Given the description of an element on the screen output the (x, y) to click on. 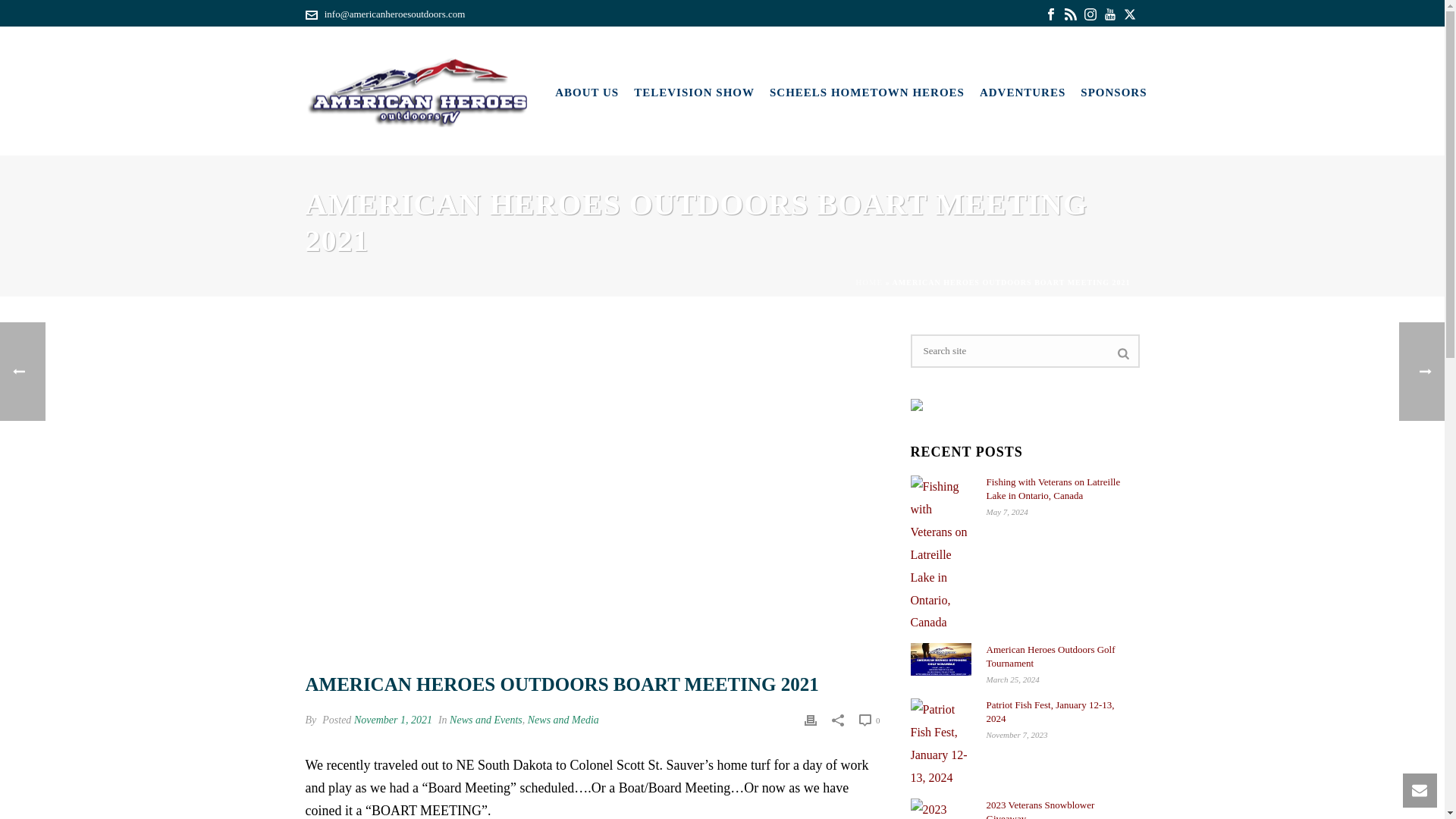
TELEVISION SHOW (693, 90)
TELEVISION SHOW (693, 90)
SCHEELS HOMETOWN HEROES (866, 90)
